Given the description of an element on the screen output the (x, y) to click on. 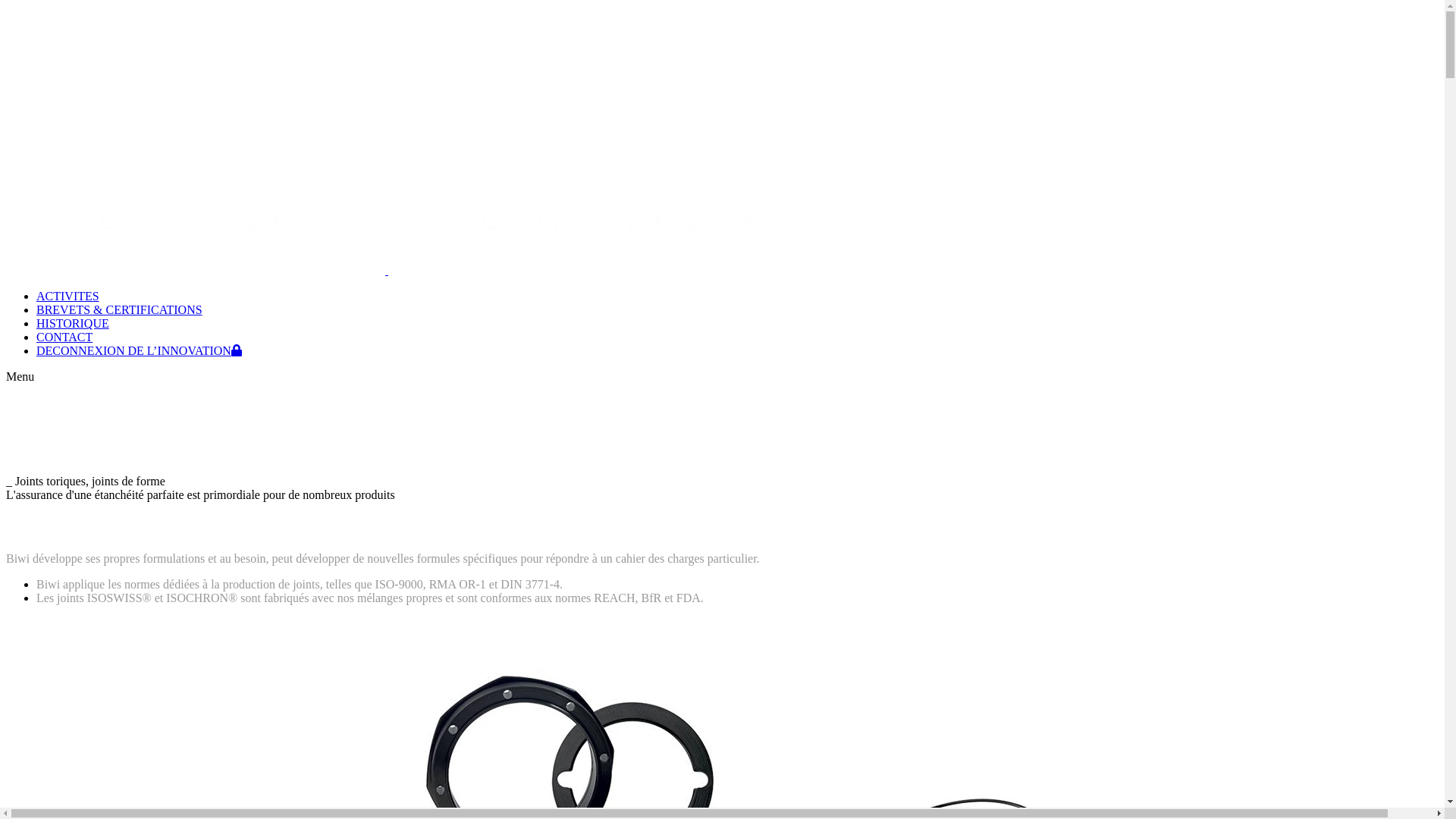
CONTACT Element type: text (64, 336)
ACTIVITES Element type: text (67, 295)
BREVETS & CERTIFICATIONS Element type: text (119, 309)
HISTORIQUE Element type: text (72, 322)
